Given the description of an element on the screen output the (x, y) to click on. 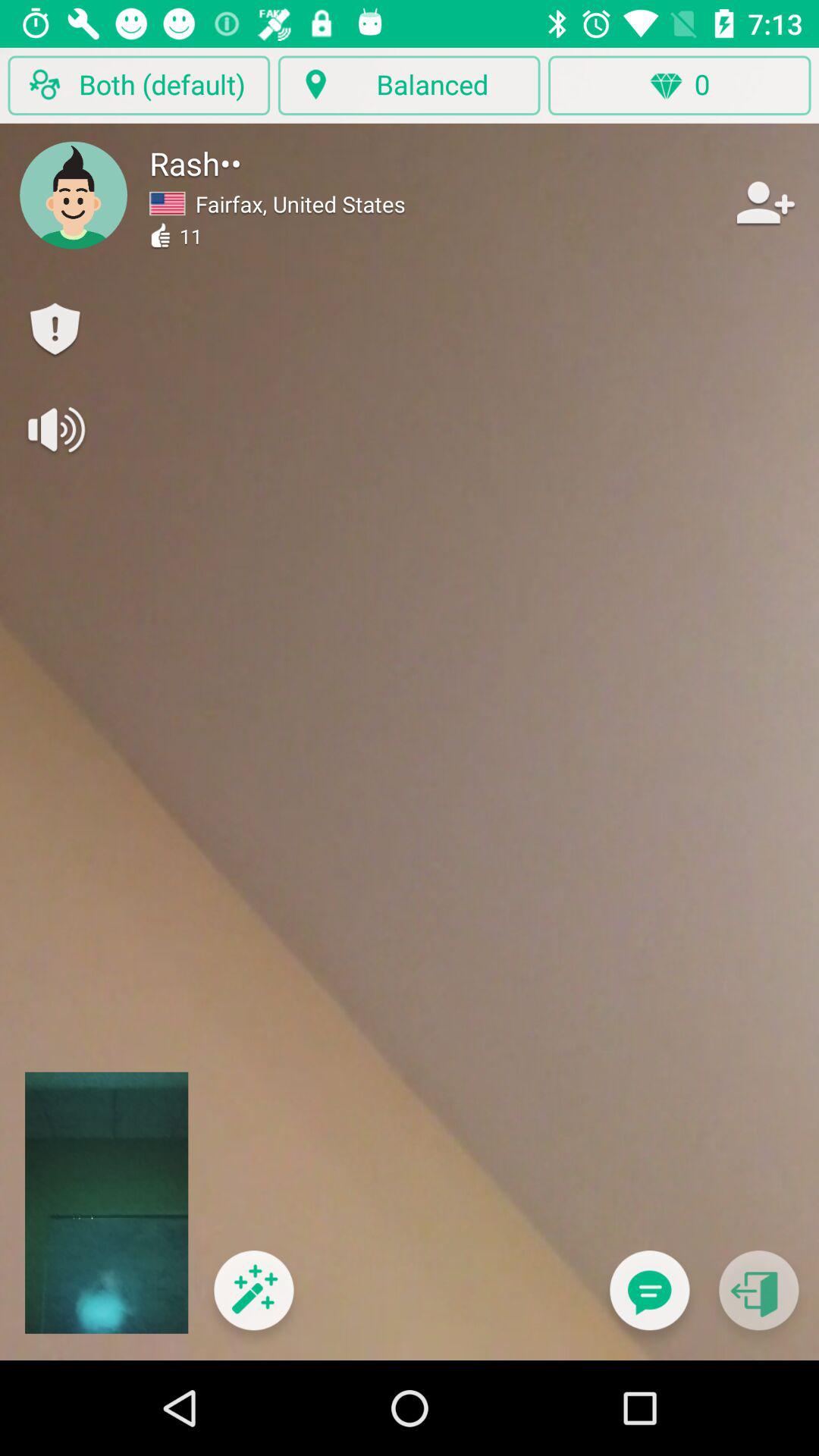
go back (758, 1300)
